Given the description of an element on the screen output the (x, y) to click on. 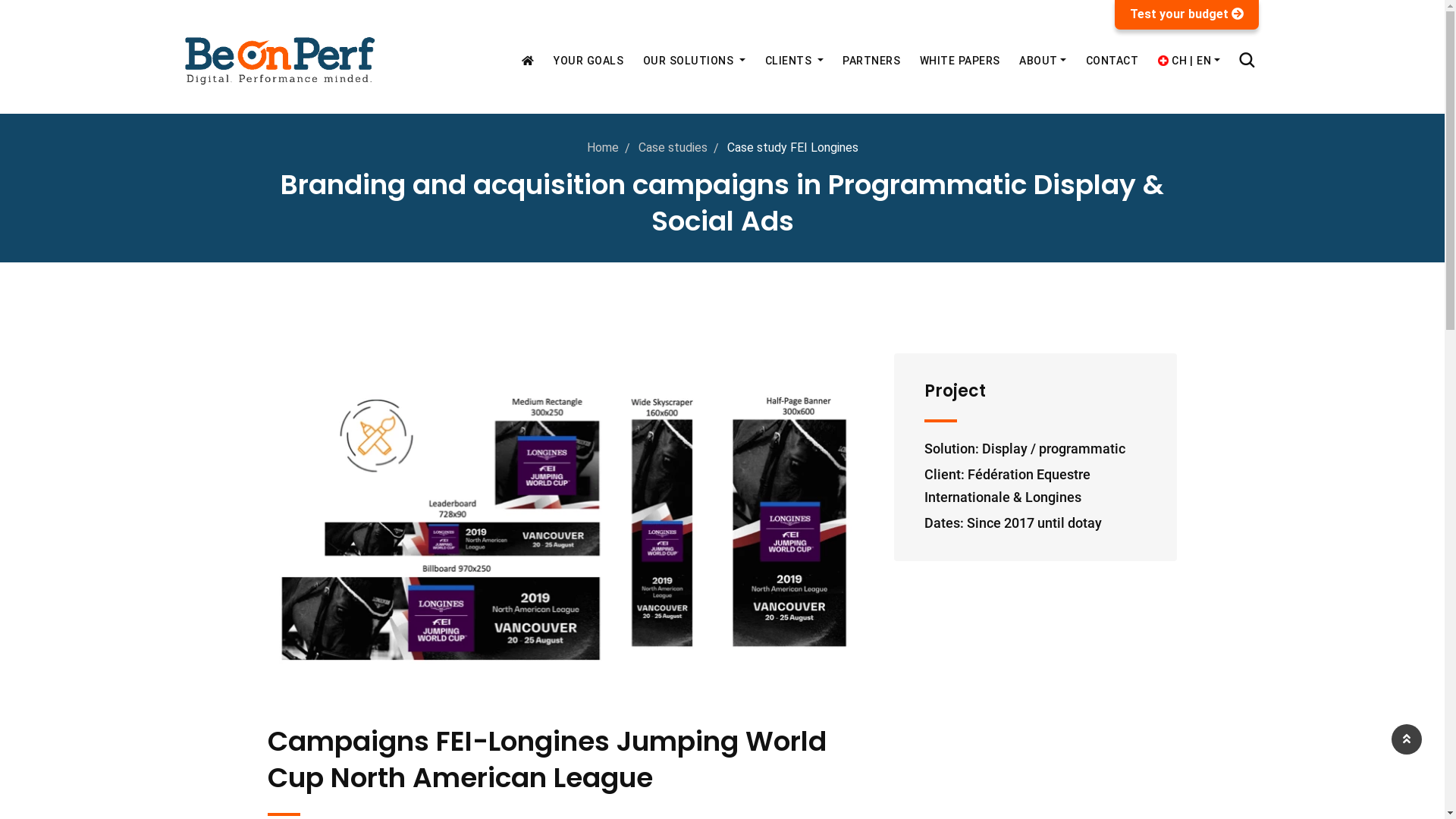
Case studies Element type: text (672, 147)
Home Element type: text (602, 147)
CH | EN Element type: text (1188, 60)
Test your budget Element type: text (1186, 13)
CONTACT Element type: text (1112, 60)
PARTNERS Element type: text (870, 60)
Search Element type: hover (1246, 60)
YOUR GOALS Element type: text (588, 60)
CLIENTS Element type: text (794, 60)
BeOnPerf Element type: hover (279, 60)
OUR SOLUTIONS Element type: text (694, 60)
ABOUT Element type: text (1042, 60)
WHITE PAPERS Element type: text (960, 60)
